Given the description of an element on the screen output the (x, y) to click on. 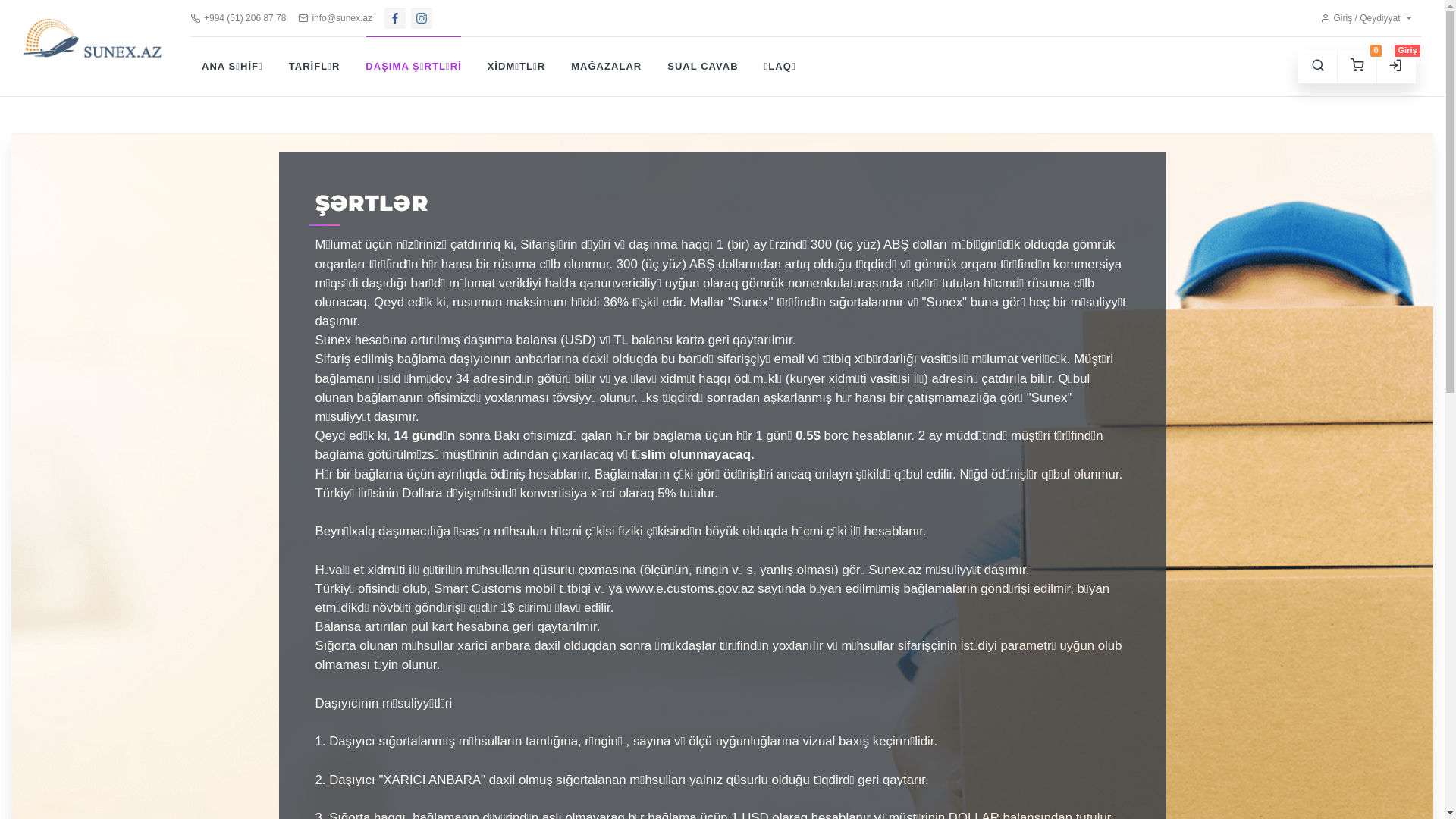
SUAL CAVAB Element type: text (702, 66)
+994 (51) 206 87 78 Element type: text (237, 18)
info@sunex.az Element type: text (335, 18)
